Given the description of an element on the screen output the (x, y) to click on. 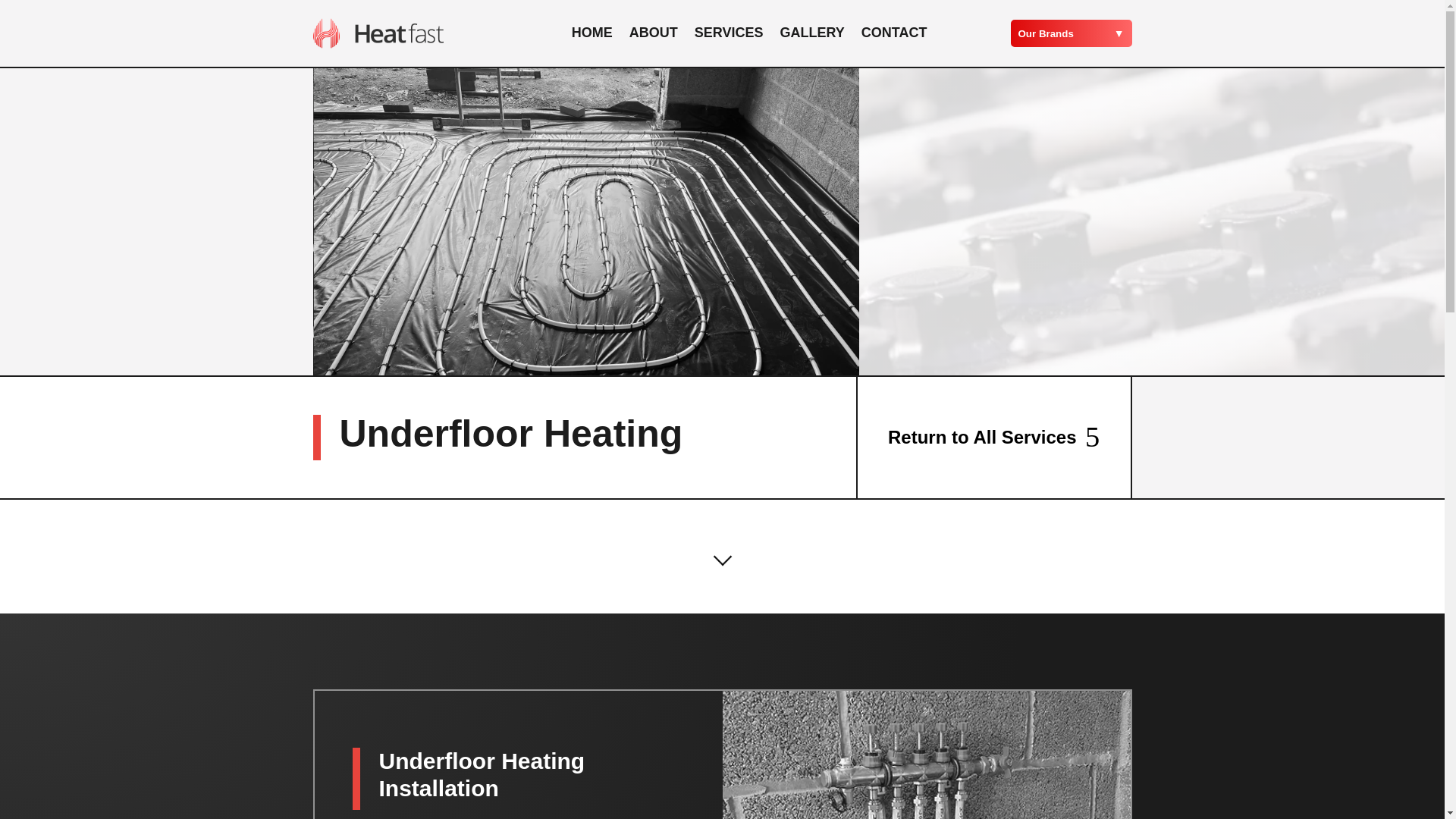
ABOUT (653, 33)
HOME (592, 33)
GALLERY (811, 33)
Return to All Services (993, 436)
SERVICES (728, 33)
CONTACT (894, 33)
